Given the description of an element on the screen output the (x, y) to click on. 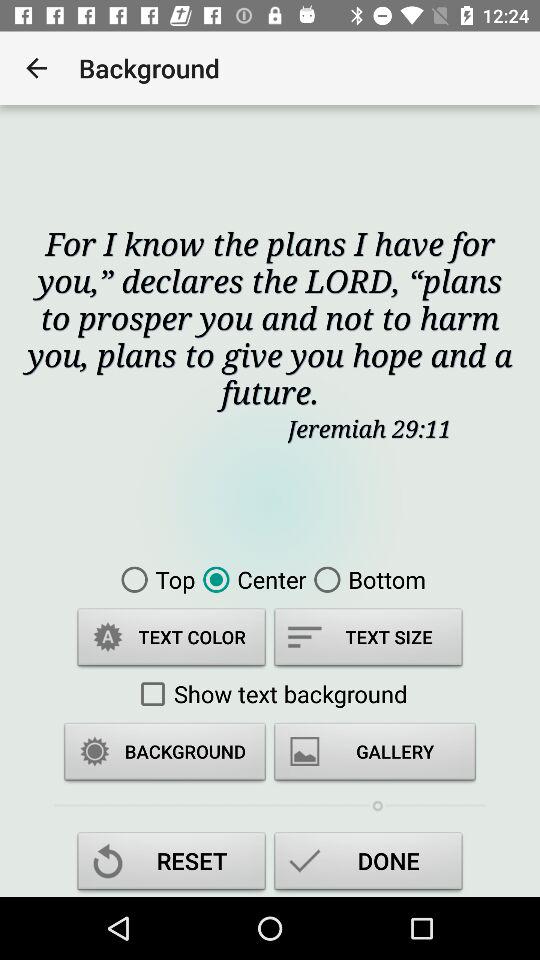
choose the item to the right of reset item (368, 863)
